Given the description of an element on the screen output the (x, y) to click on. 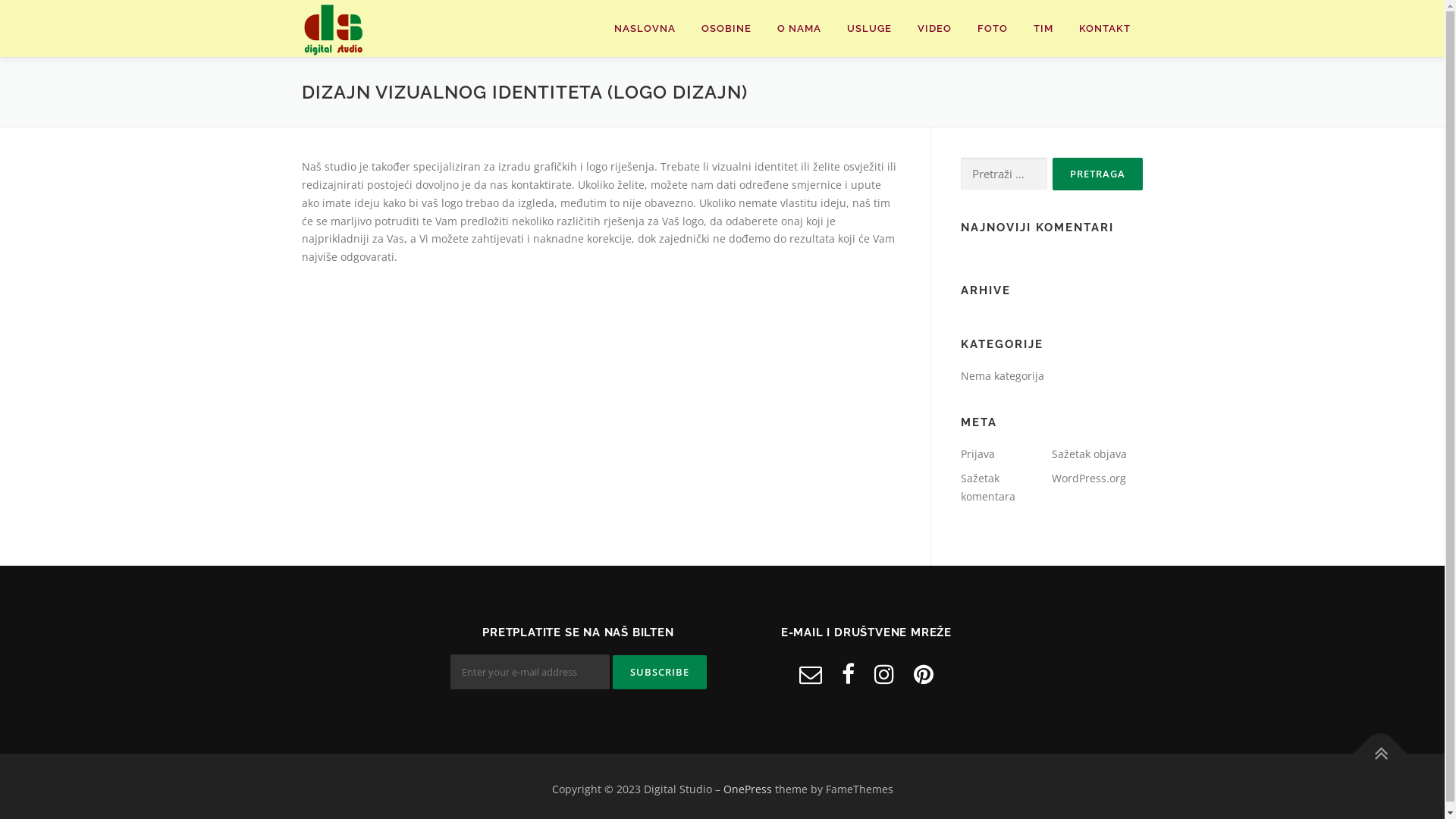
OnePress Element type: text (747, 788)
Prijava Element type: text (977, 453)
NASLOVNA Element type: text (643, 28)
Pretraga Element type: text (1097, 173)
WordPress.org Element type: text (1088, 477)
Pinterest Element type: hover (923, 673)
OSOBINE Element type: text (726, 28)
Subscribe Element type: text (659, 672)
FOTO Element type: text (992, 28)
E-mail Element type: hover (810, 673)
TIM Element type: text (1043, 28)
USLUGE Element type: text (869, 28)
Facebook Element type: hover (847, 673)
VIDEO Element type: text (933, 28)
Back To Top Element type: hover (1372, 746)
Instagram Element type: hover (884, 673)
KONTAKT Element type: text (1104, 28)
O NAMA Element type: text (799, 28)
